Given the description of an element on the screen output the (x, y) to click on. 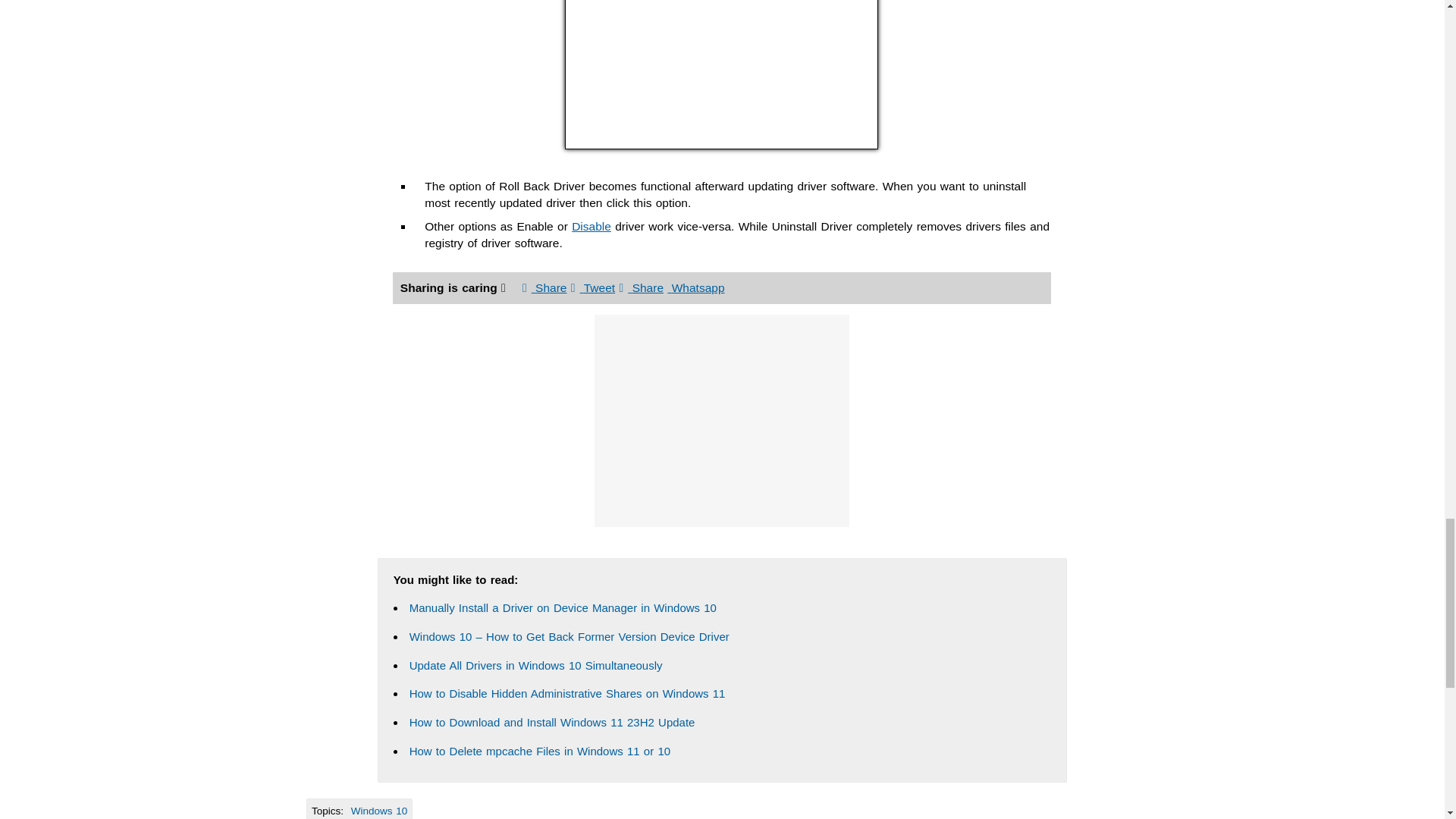
Whatsapp (694, 287)
Disable (591, 226)
Tweet (592, 287)
How to Delete mpcache Files in Windows 11 or 10 (539, 750)
Manually Install a Driver on Device Manager in Windows 10 (562, 607)
Update All Drivers in Windows 10 Simultaneously (535, 665)
Share (544, 287)
Share (640, 287)
Windows 10 (378, 810)
How to Disable Hidden Administrative Shares on Windows 11 (567, 693)
